Given the description of an element on the screen output the (x, y) to click on. 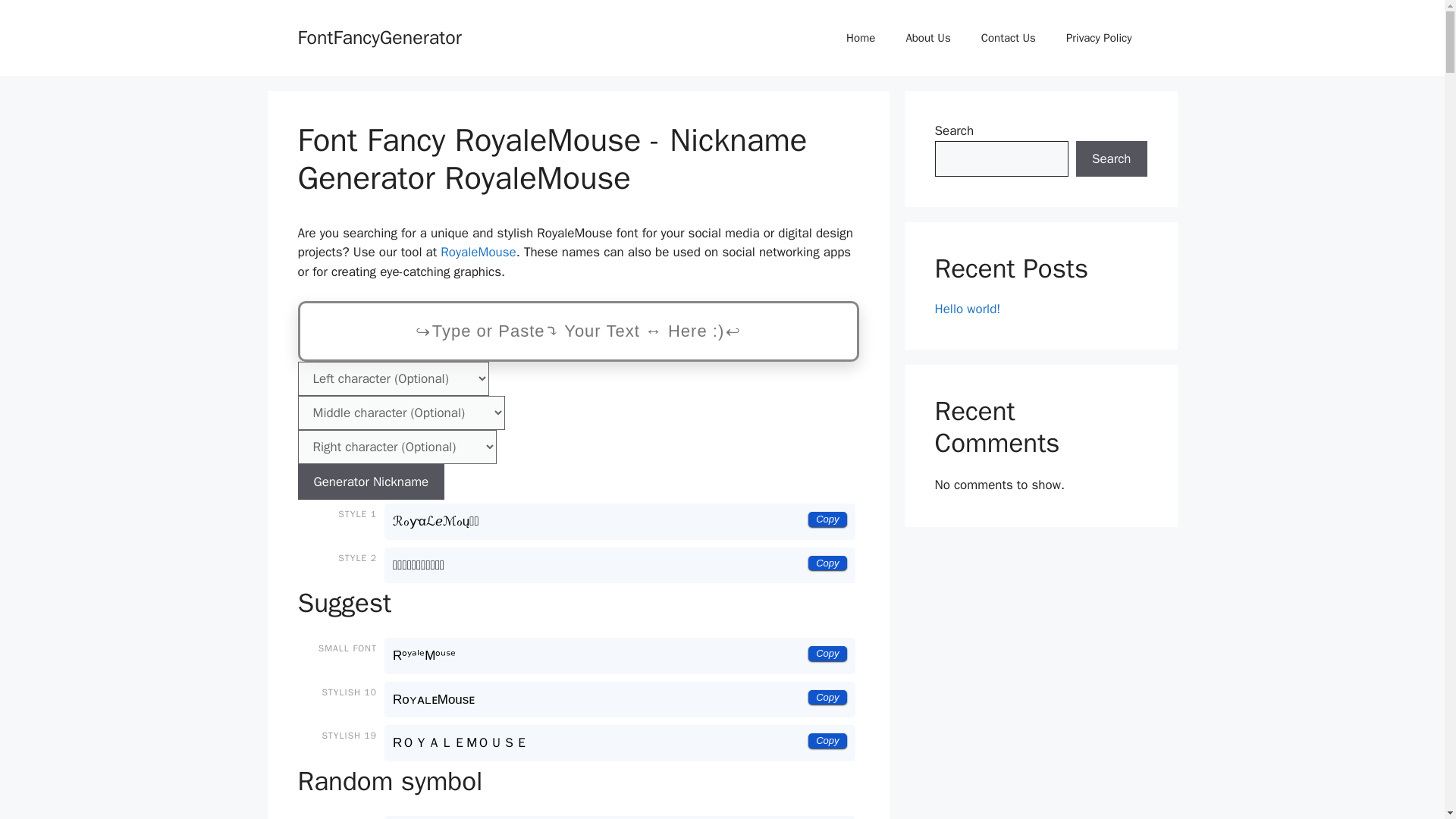
Generator Nickname (370, 482)
About Us (927, 37)
Contact Us (1008, 37)
FontFancyGenerator (379, 37)
Privacy Policy (1099, 37)
Home (860, 37)
RoyaleMouse (478, 252)
